Given the description of an element on the screen output the (x, y) to click on. 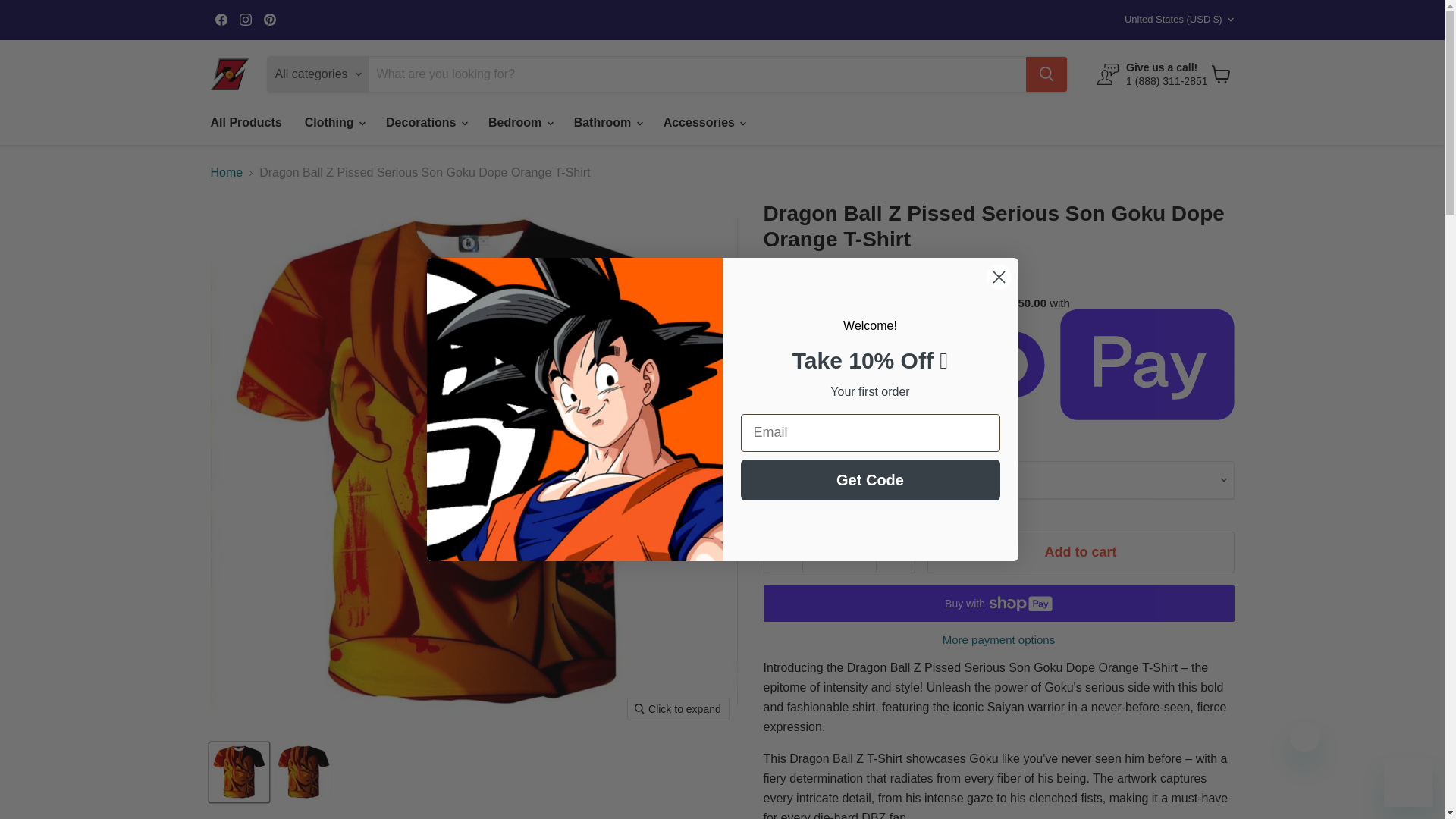
1 (839, 552)
Pinterest (270, 19)
Find us on Instagram (245, 19)
Find us on Facebook (221, 19)
Facebook (221, 19)
Instagram (245, 19)
Find us on Pinterest (270, 19)
DBZ Store customer support phone number (1166, 80)
